Given the description of an element on the screen output the (x, y) to click on. 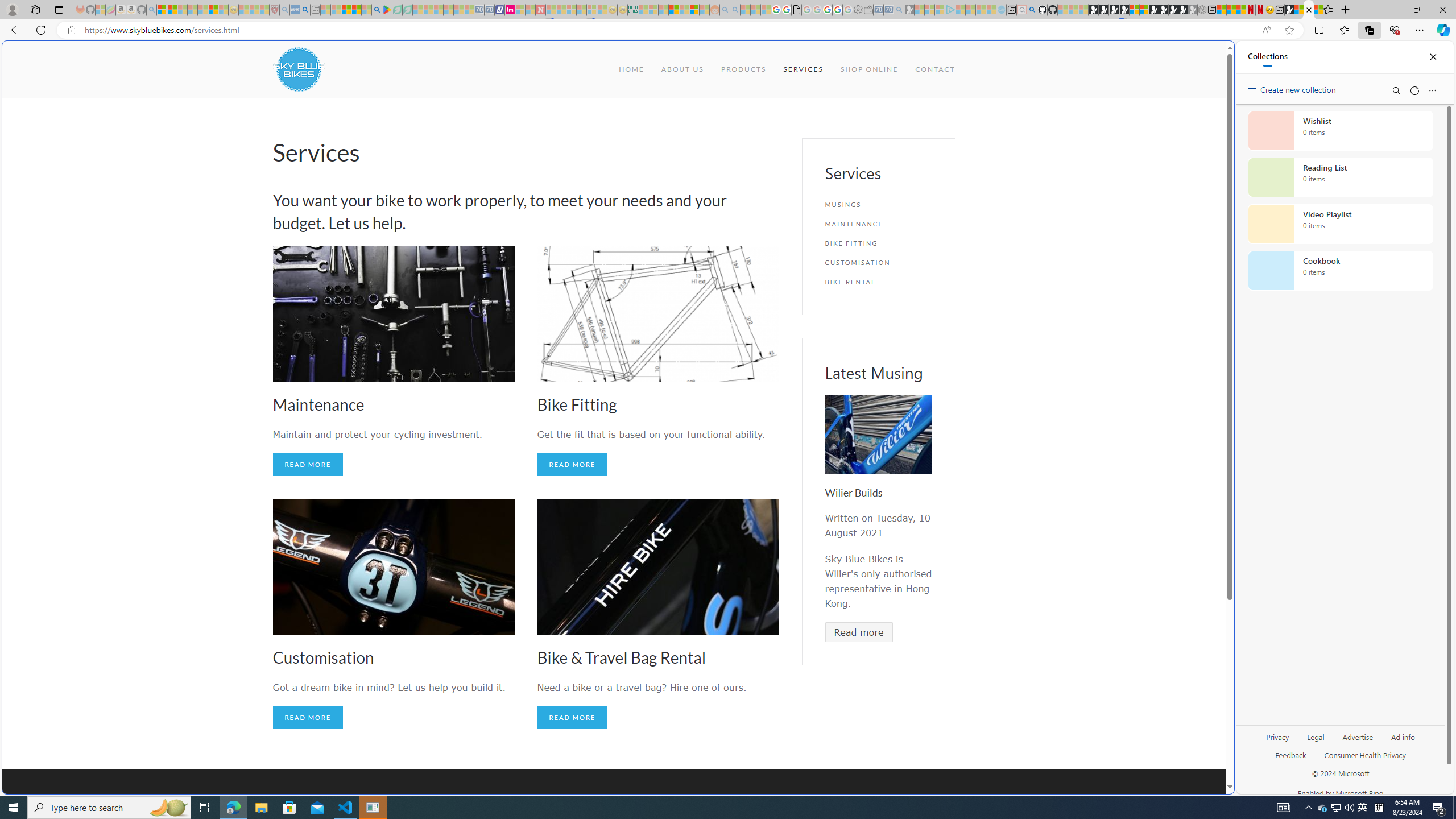
Wilier Builds (853, 492)
Wishlist collection, 0 items (1339, 130)
